Given the description of an element on the screen output the (x, y) to click on. 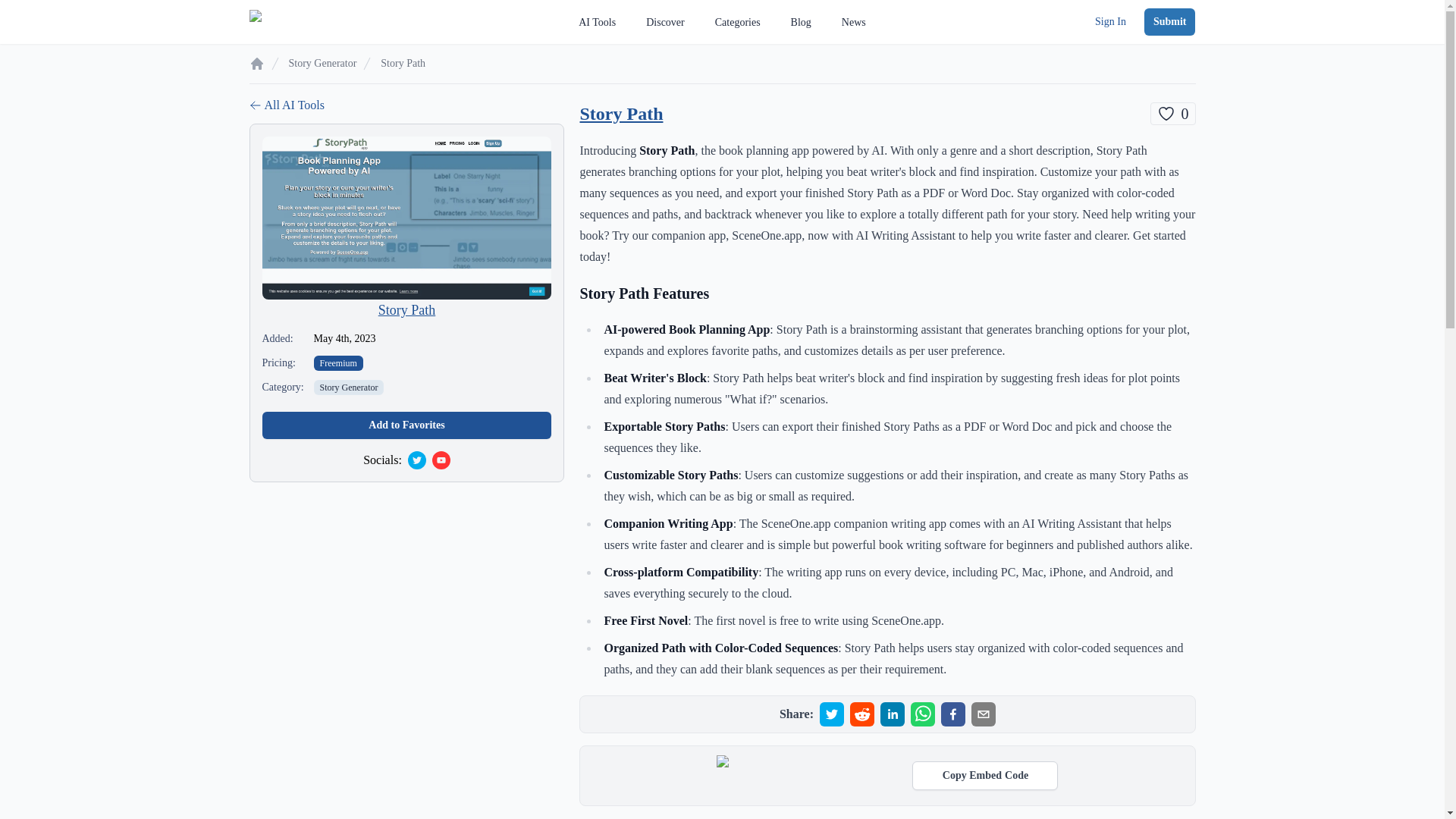
AI Tools (596, 21)
Blog (800, 21)
Story Path (620, 113)
All AI Tools (406, 105)
Story Path (406, 309)
Story Generator (349, 387)
Submit (985, 775)
Discover (1169, 22)
Categories (665, 21)
